Given the description of an element on the screen output the (x, y) to click on. 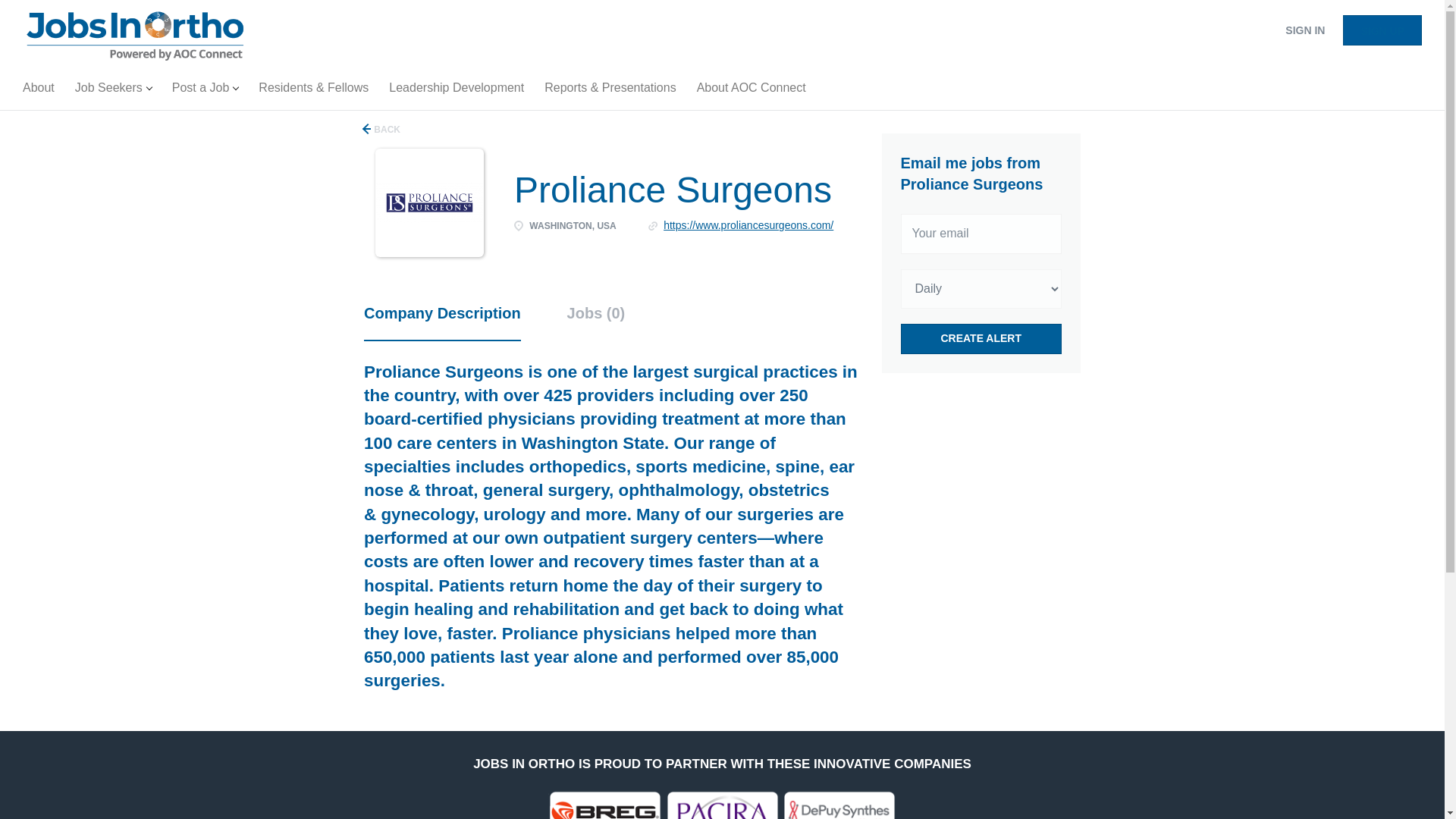
Job Seekers (112, 90)
Create alert (981, 338)
BACK (382, 128)
About (38, 90)
Company Description (442, 321)
Leadership Development (456, 90)
Post a Job (205, 90)
About AOC Connect (750, 90)
SIGN UP (1382, 30)
Create alert (981, 338)
SIGN IN (1305, 30)
